Given the description of an element on the screen output the (x, y) to click on. 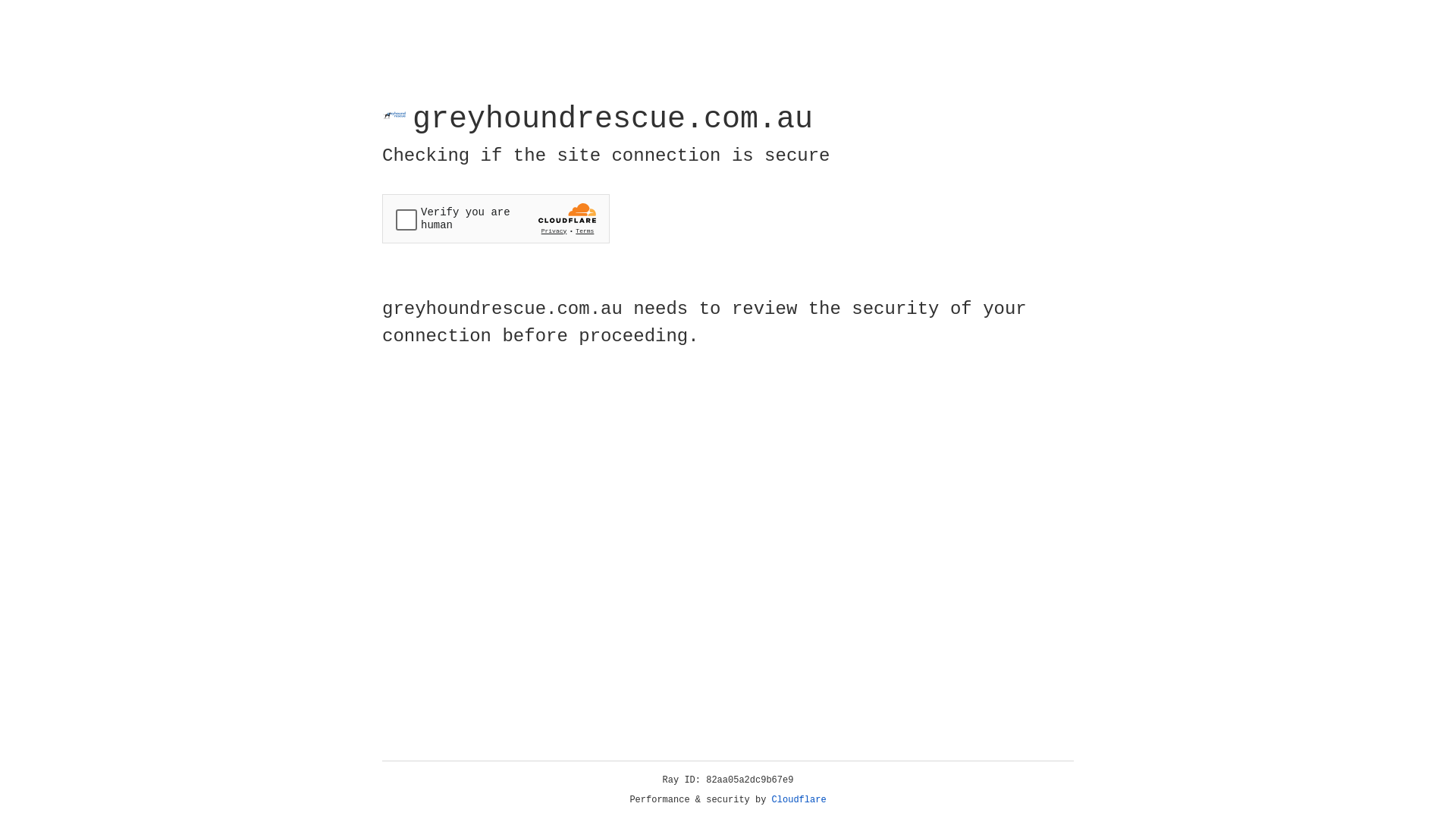
Cloudflare Element type: text (798, 799)
Widget containing a Cloudflare security challenge Element type: hover (495, 218)
